Given the description of an element on the screen output the (x, y) to click on. 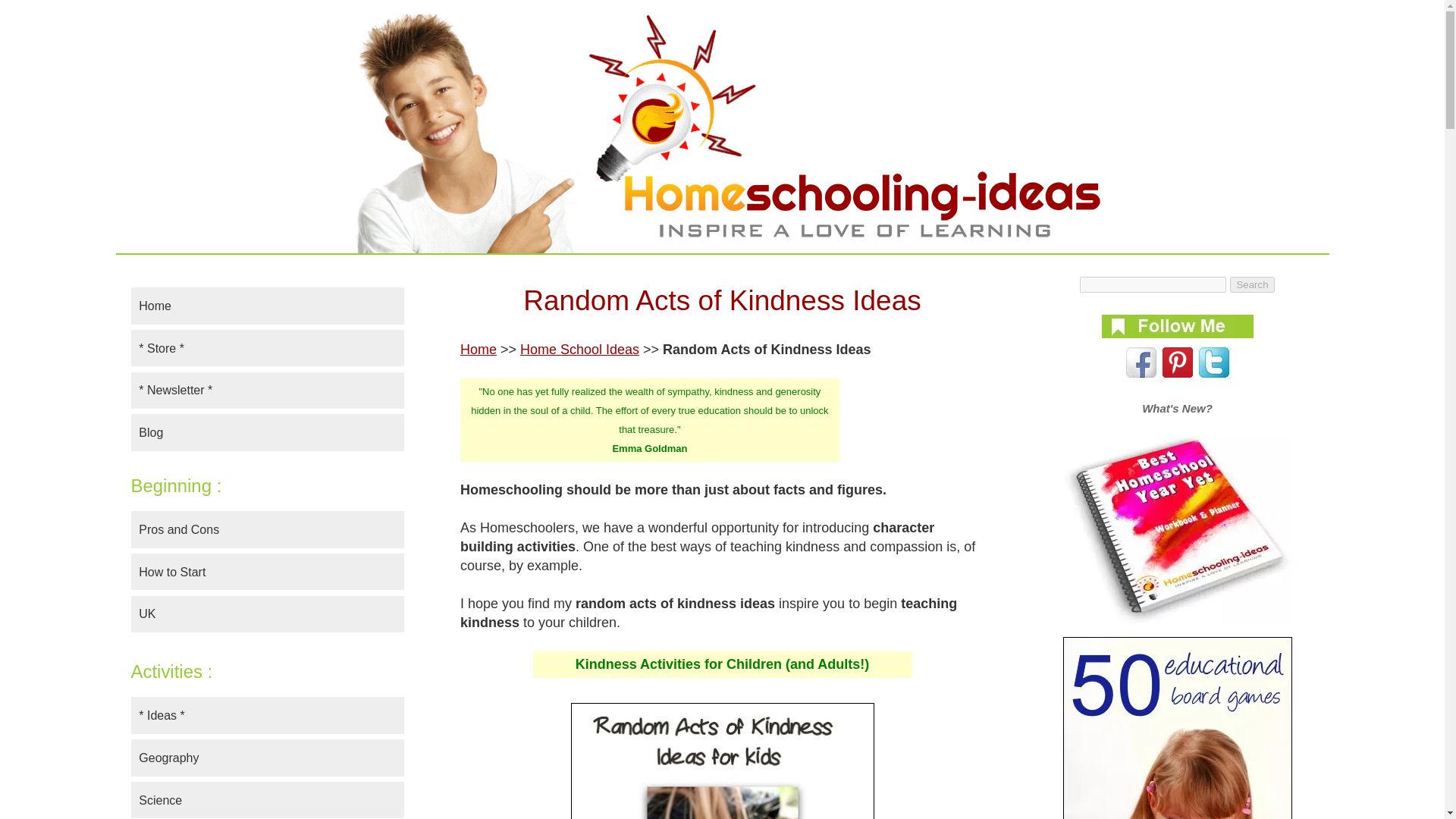
Random Acts of Kindness Ideas for Kids (721, 760)
Go to Have your Best Homeschool Year yet! (1176, 620)
Search (1252, 284)
Home (478, 349)
Best Homeschool Year Yet Planner (1176, 529)
Educational Board Games for Kids (1177, 728)
Home School Ideas (579, 349)
